Given the description of an element on the screen output the (x, y) to click on. 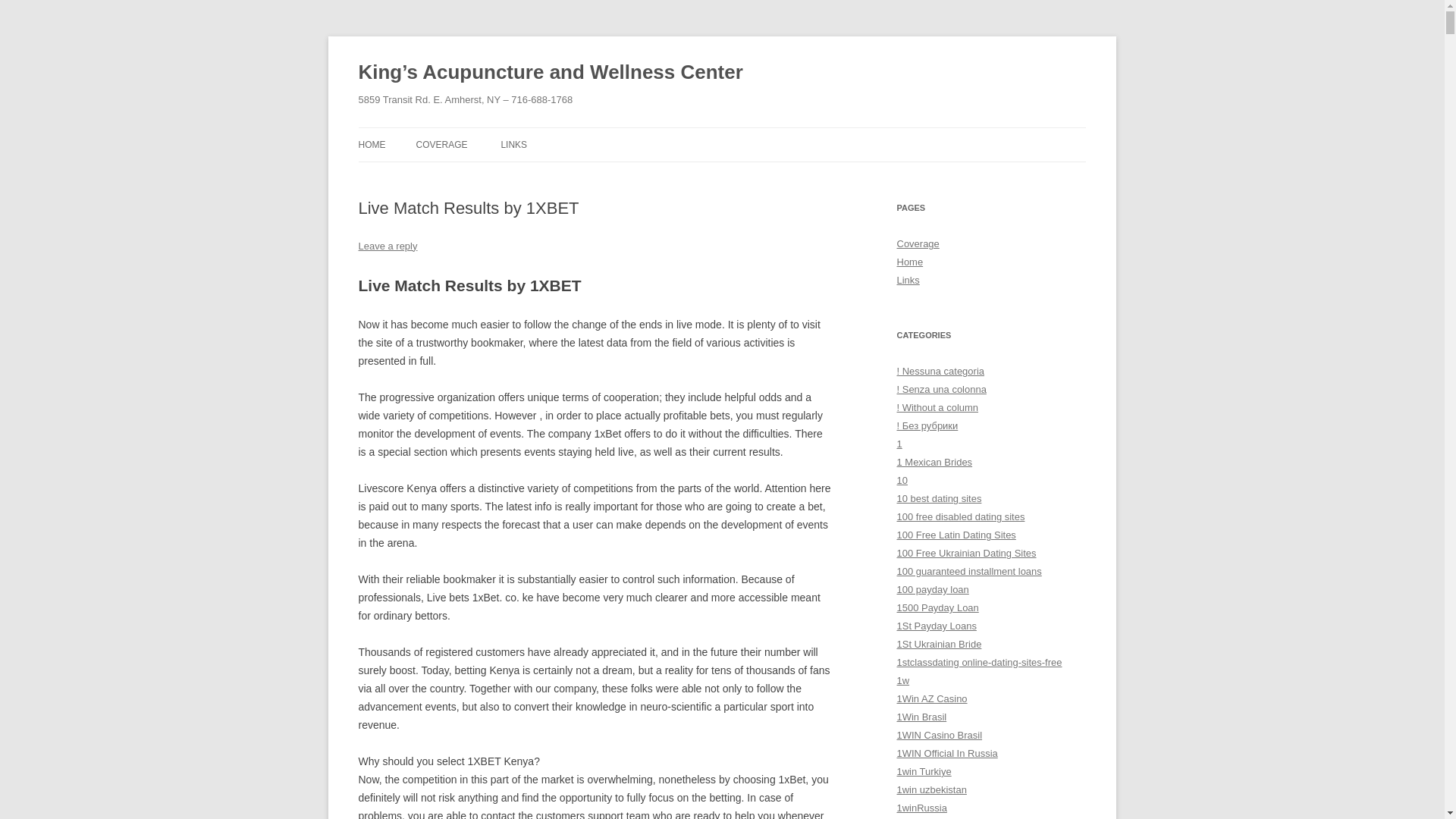
Home (909, 261)
! Senza una colonna (940, 389)
10 (901, 480)
100 payday loan (932, 589)
1Win AZ Casino (931, 698)
100 Free Ukrainian Dating Sites (965, 552)
COVERAGE (440, 144)
Leave a reply (387, 245)
! Nessuna categoria (940, 370)
! Without a column (937, 407)
